Given the description of an element on the screen output the (x, y) to click on. 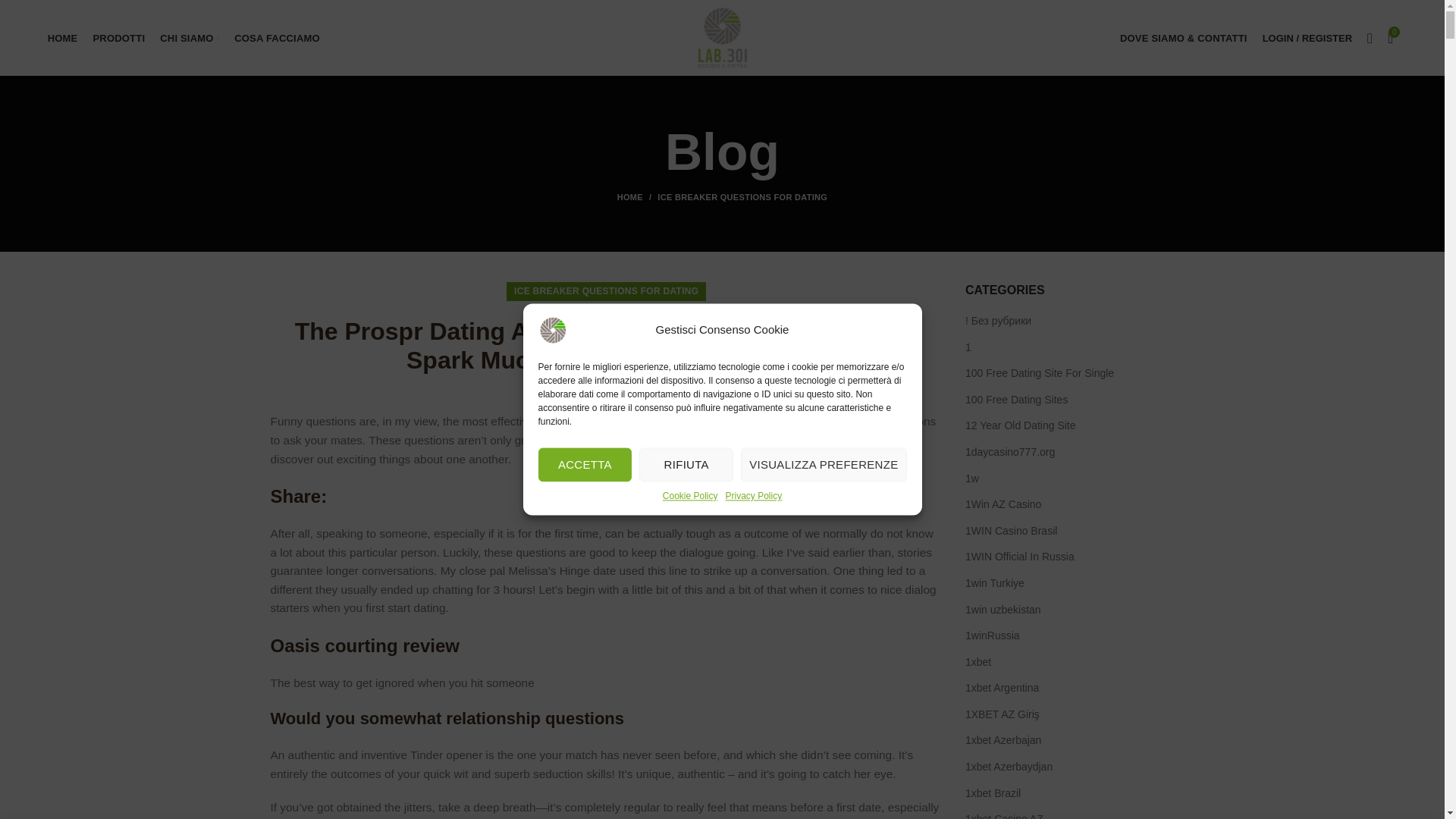
Privacy Policy (753, 606)
ACCETTA (584, 732)
ICE BREAKER QUESTIONS FOR DATING (742, 196)
VISUALIZZA PREFERENZE (823, 668)
ICE BREAKER QUESTIONS FOR DATING (605, 291)
COSA FACCIAMO (277, 37)
The S.R.L (643, 389)
RIFIUTA (686, 698)
HOME (637, 196)
PRODOTTI (118, 37)
HOME (62, 37)
Account (1307, 37)
CHI SIAMO (189, 37)
Cookie Policy (689, 626)
